Given the description of an element on the screen output the (x, y) to click on. 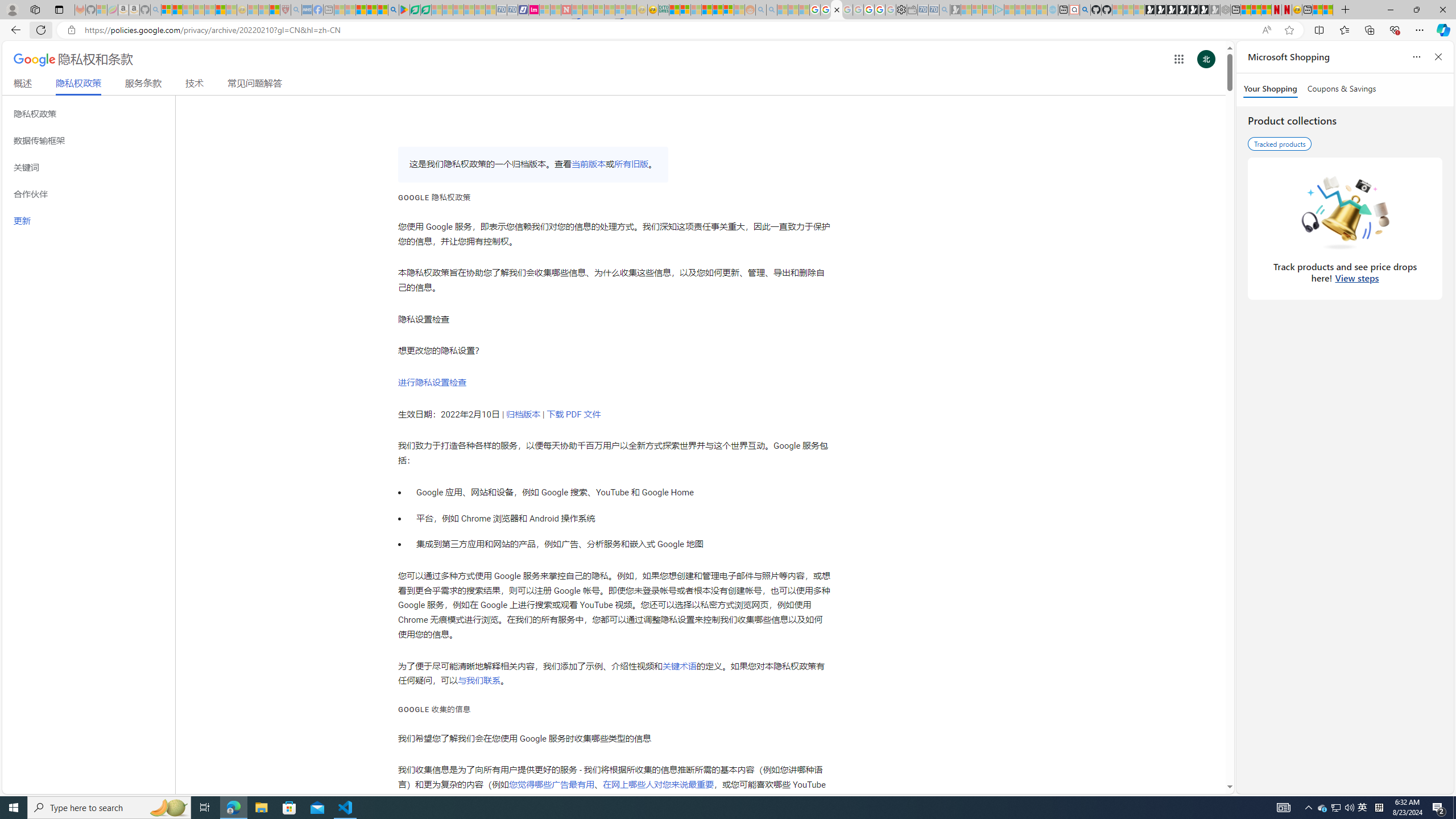
Jobs - lastminute.com Investor Portal (534, 9)
Bluey: Let's Play! - Apps on Google Play (404, 9)
